Given the description of an element on the screen output the (x, y) to click on. 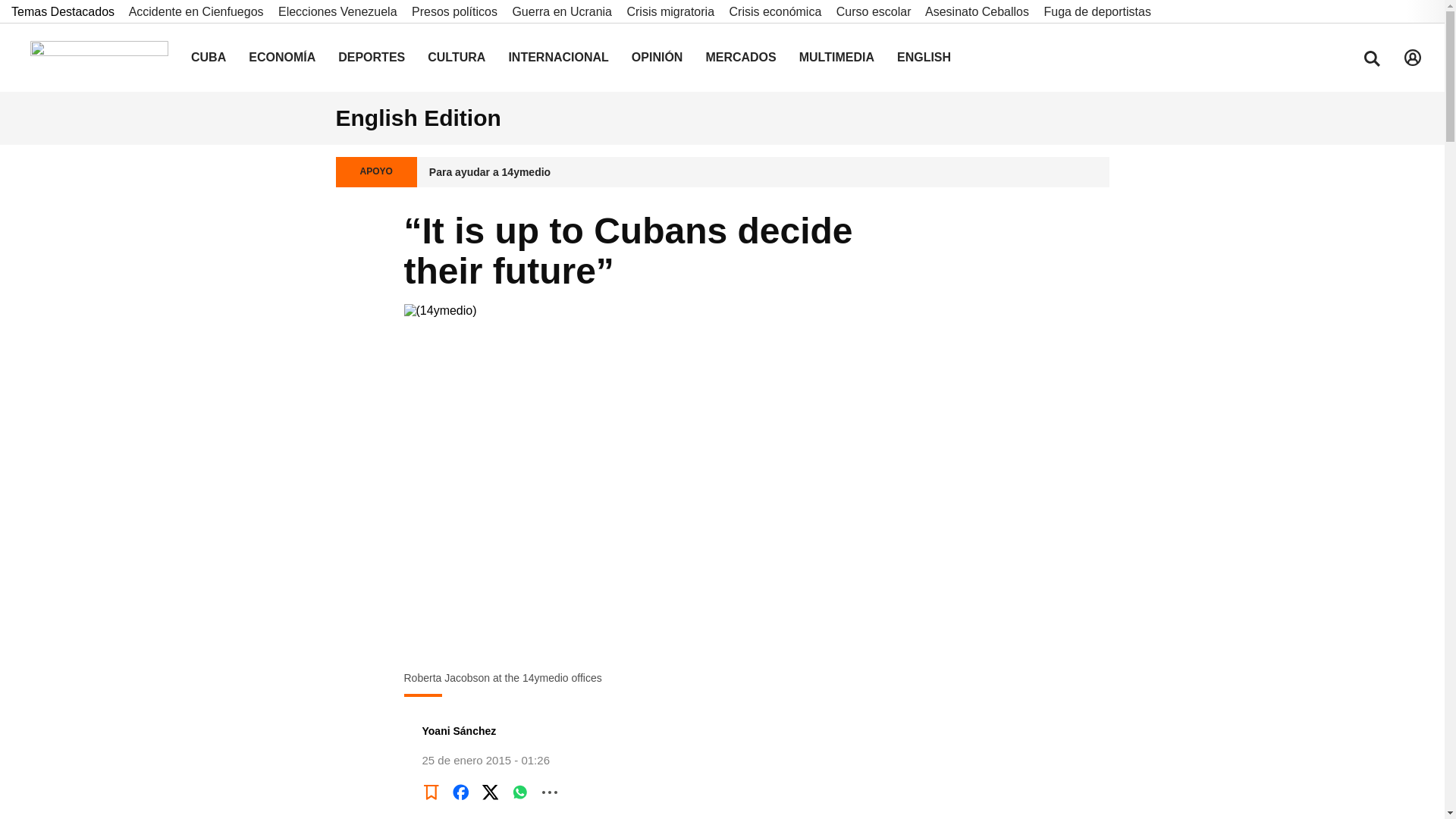
Asesinato Ceballos (982, 11)
Ir a 14ymedio (99, 57)
Curso escolar (879, 11)
Cuba (207, 57)
English Edition (417, 117)
Asesinato Ceballos (982, 11)
Accidente en Cienfuegos (202, 11)
Elecciones Venezuela (343, 11)
Crisis migratoria (675, 11)
Mercados (740, 57)
